Given the description of an element on the screen output the (x, y) to click on. 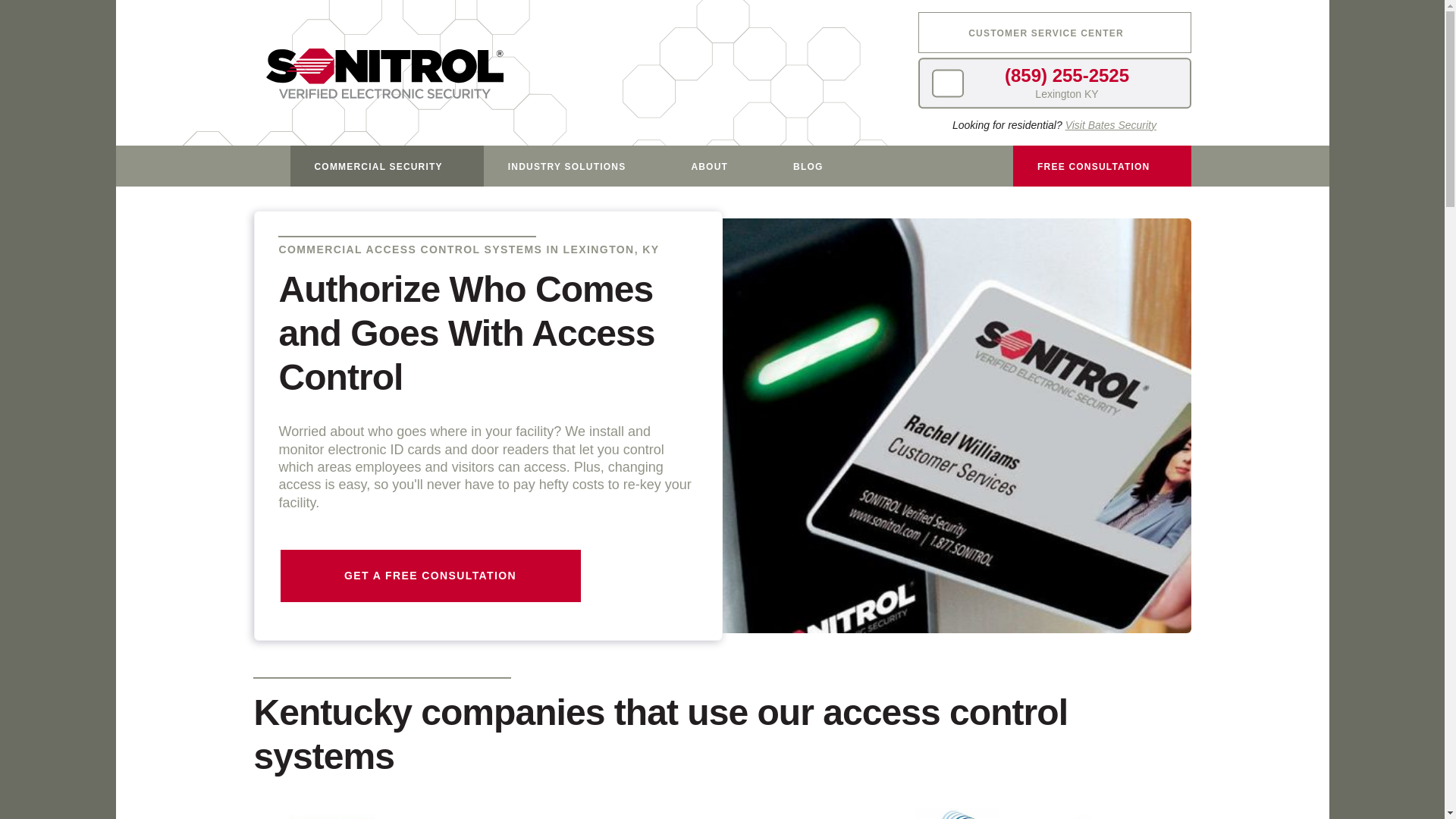
COMMERCIAL SECURITY (386, 165)
Visit Bates Security (1110, 124)
CUSTOMER SERVICE CENTER (1054, 32)
